Given the description of an element on the screen output the (x, y) to click on. 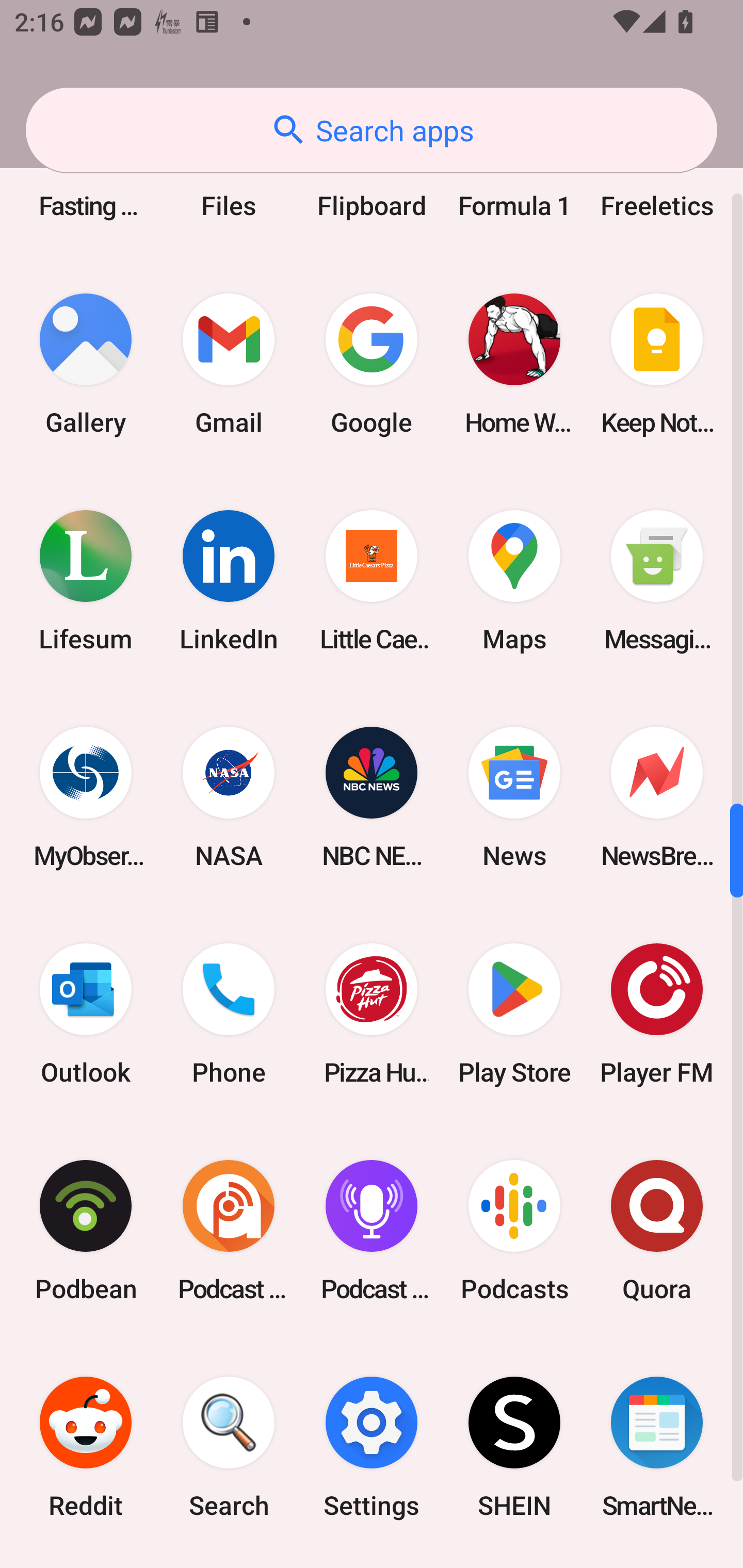
  Search apps (371, 130)
Gallery (85, 363)
Gmail (228, 363)
Google (371, 363)
Home Workout (514, 363)
Keep Notes (656, 363)
Lifesum (85, 579)
LinkedIn (228, 579)
Little Caesars Pizza (371, 579)
Maps (514, 579)
Messaging (656, 579)
MyObservatory (85, 797)
NASA (228, 797)
NBC NEWS (371, 797)
News (514, 797)
NewsBreak (656, 797)
Outlook (85, 1014)
Phone (228, 1014)
Pizza Hut HK & Macau (371, 1014)
Play Store (514, 1014)
Player FM (656, 1014)
Podbean (85, 1230)
Podcast Addict (228, 1230)
Podcast Player (371, 1230)
Podcasts (514, 1230)
Quora (656, 1230)
Reddit (85, 1447)
Search (228, 1447)
Settings (371, 1447)
SHEIN (514, 1447)
SmartNews (656, 1447)
